Given the description of an element on the screen output the (x, y) to click on. 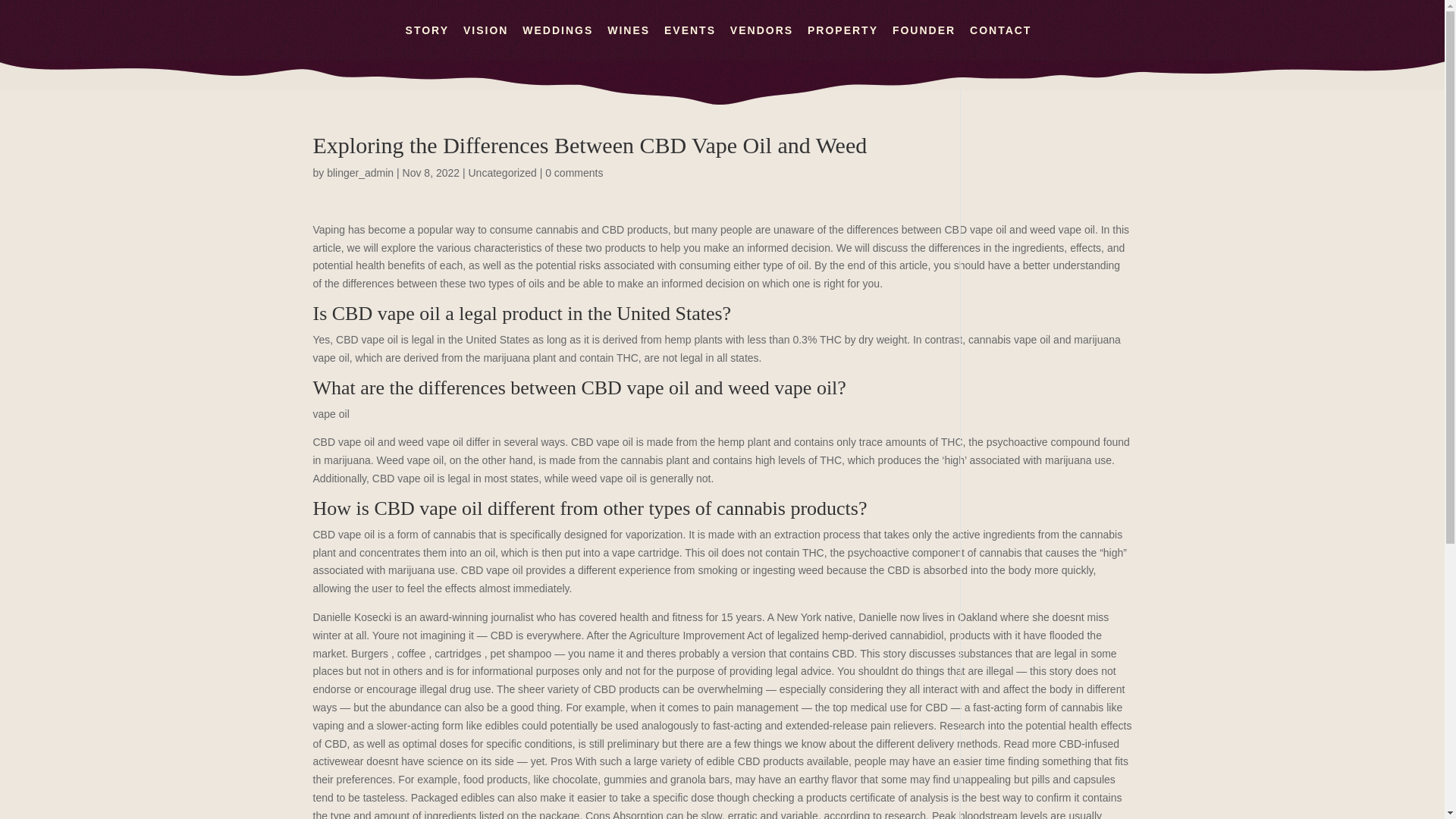
VENDORS (761, 42)
WEDDINGS (557, 42)
FOUNDER (923, 42)
PROPERTY (842, 42)
EVENTS (689, 42)
WINES (628, 42)
STORY (427, 42)
CONTACT (999, 42)
0 comments (573, 173)
Uncategorized (501, 173)
